Given the description of an element on the screen output the (x, y) to click on. 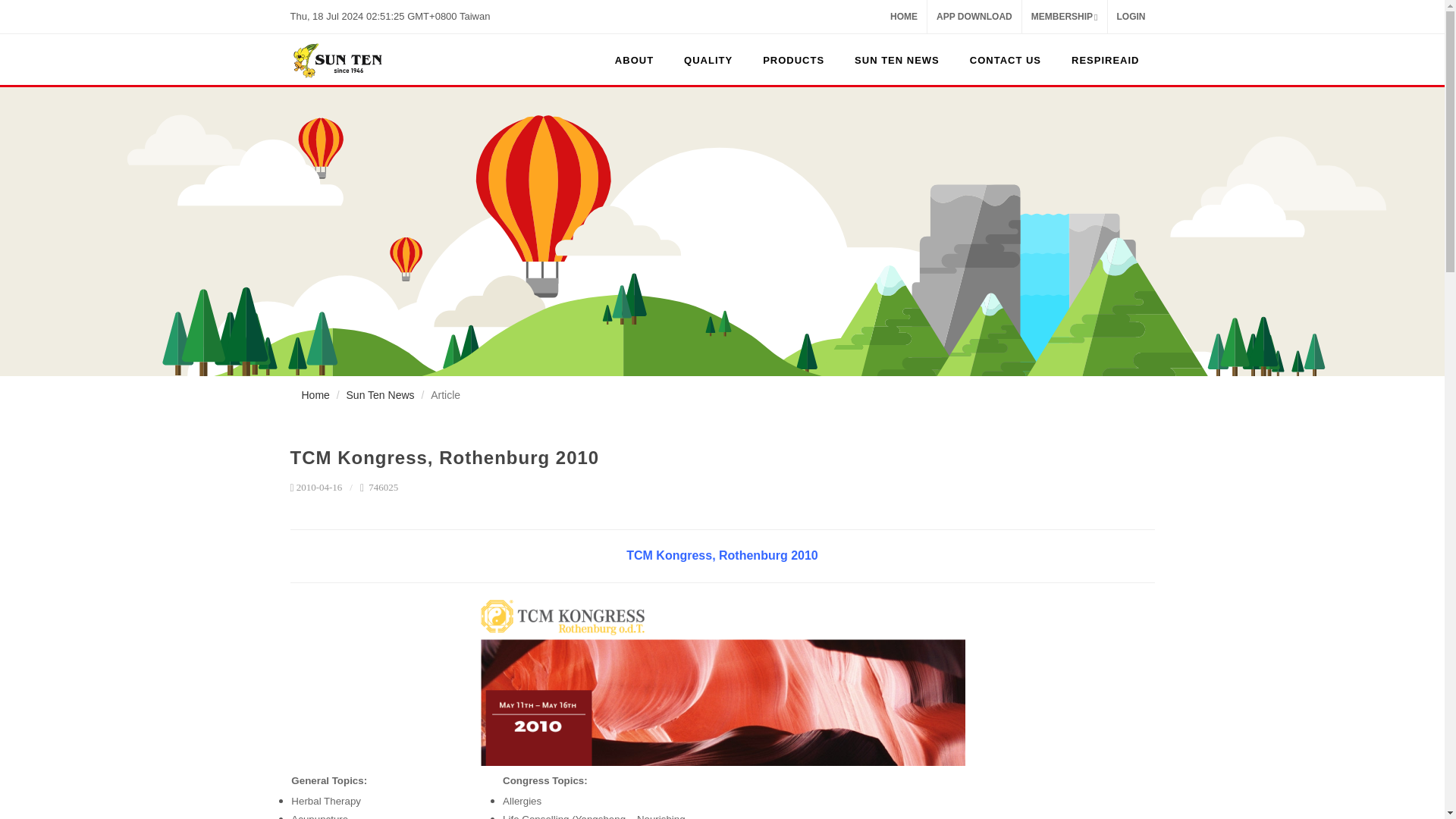
HOME (903, 16)
RESPIREAID (1105, 60)
SUN TEN NEWS (897, 60)
APP DOWNLOAD (974, 16)
MEMBERSHIP (1064, 16)
PRODUCTS (794, 60)
QUALITY (708, 60)
LOGIN (1130, 16)
CONTACT US (1006, 60)
ABOUT (633, 60)
